Given the description of an element on the screen output the (x, y) to click on. 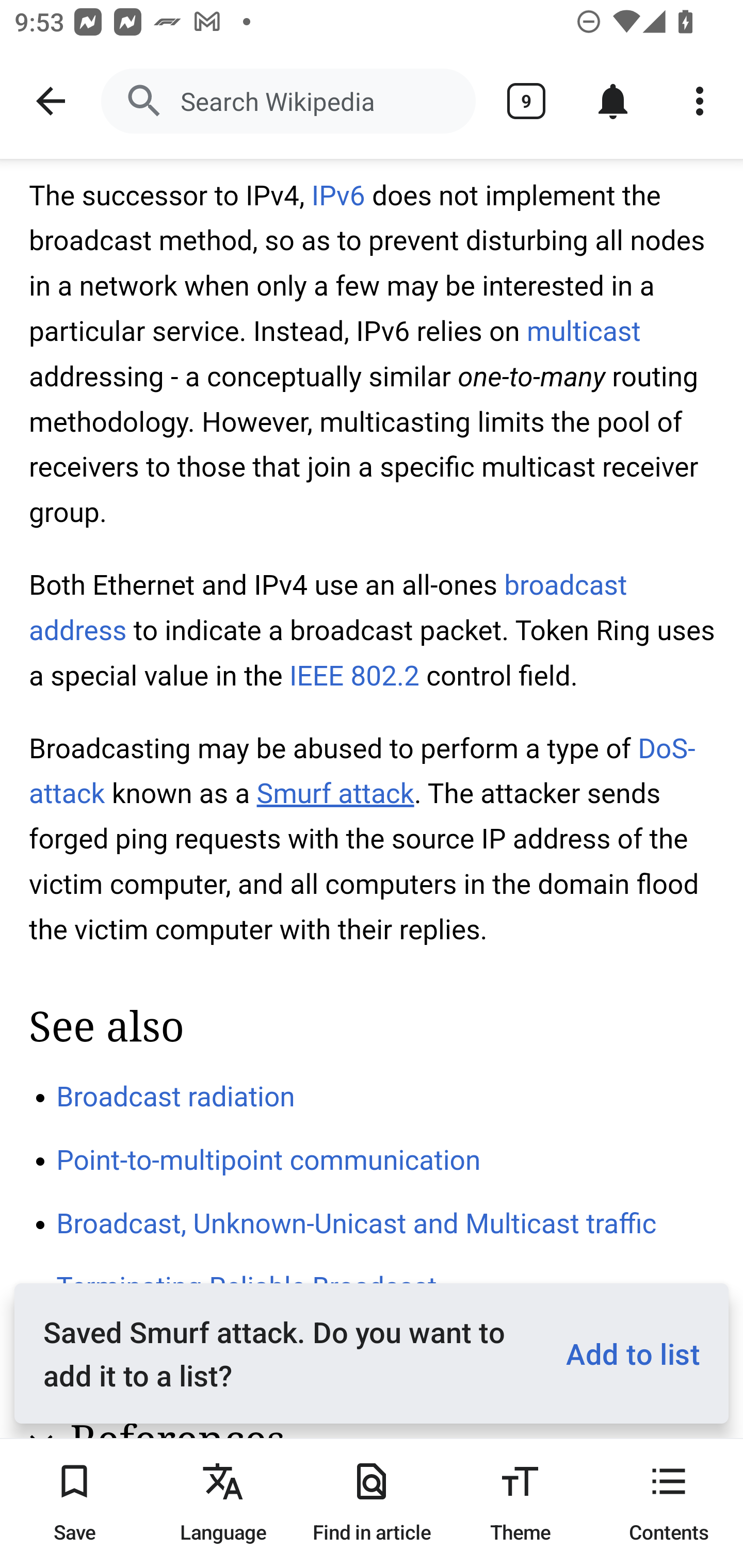
Show tabs 9 (525, 100)
Notifications (612, 100)
Navigate up (50, 101)
More options (699, 101)
Search Wikipedia (288, 100)
IPv6 (338, 195)
multicast (582, 330)
broadcast address (328, 607)
IEEE 802.2 (354, 675)
DoS-attack (362, 770)
Smurf attack (335, 793)
Broadcast radiation (175, 1095)
Point-to-multipoint communication (268, 1160)
Broadcast, Unknown-Unicast and Multicast traffic (356, 1222)
Add to list (625, 1353)
Save (74, 1502)
Language (222, 1502)
Find in article (371, 1502)
Theme (519, 1502)
Contents (668, 1502)
